Given the description of an element on the screen output the (x, y) to click on. 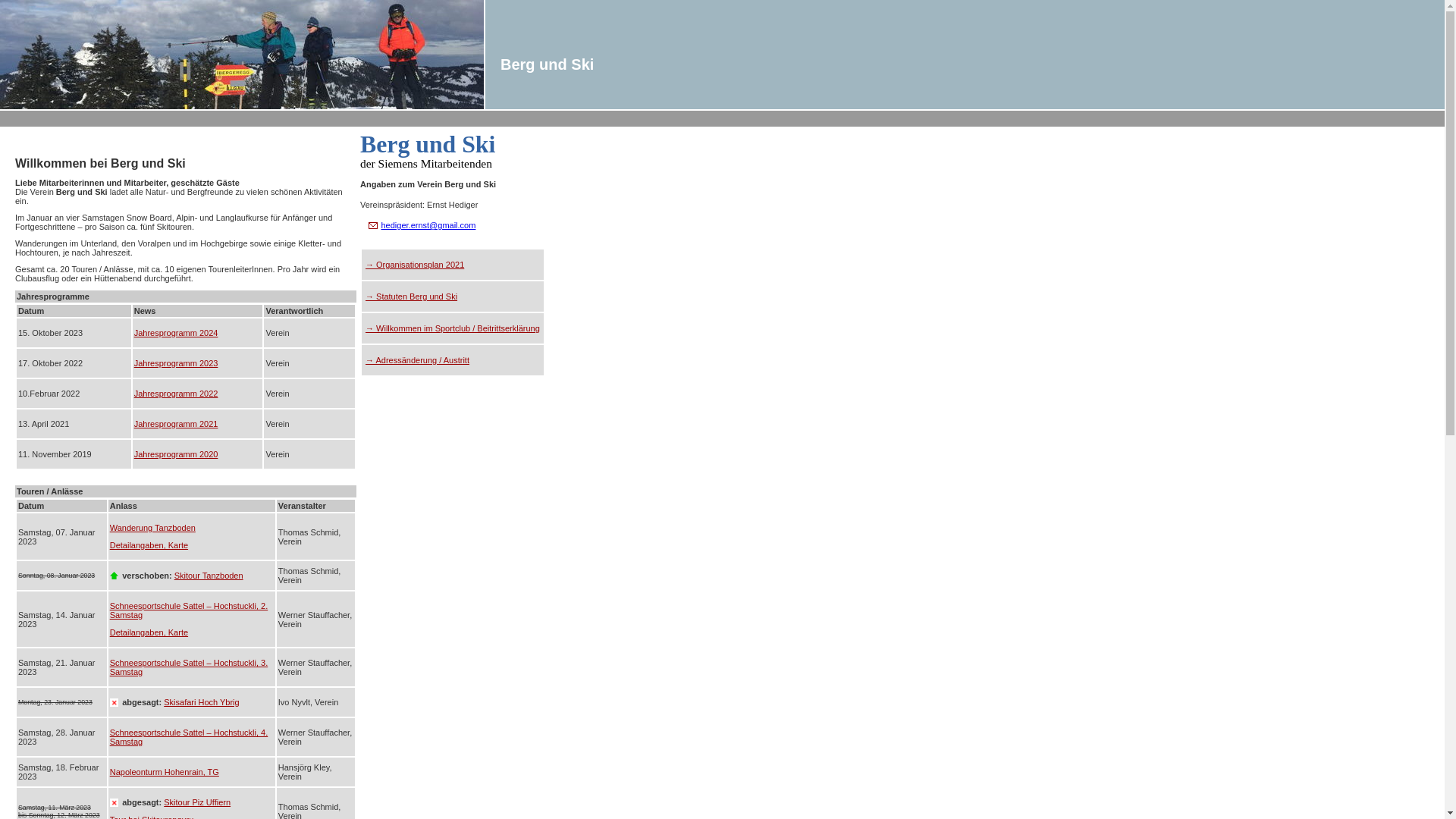
Detailangaben, Karte Element type: text (148, 544)
Napoleonturm Hohenrain, TG Element type: text (164, 771)
Jahresprogramm 2020 Element type: text (176, 453)
Wanderung Tanzboden Element type: text (152, 527)
Skitour Tanzboden Element type: text (208, 575)
Jahresprogramm 2024 Element type: text (176, 332)
Skitour Piz Uffiern Element type: text (196, 801)
Jahresprogramm 2021 Element type: text (176, 423)
hediger.ernst@gmail.com Element type: text (427, 224)
Detailangaben, Karte Element type: text (148, 632)
Skisafari Hoch Ybrig Element type: text (200, 701)
Jahresprogramm 2022 Element type: text (176, 393)
Jahresprogramm 2023 Element type: text (176, 362)
